Given the description of an element on the screen output the (x, y) to click on. 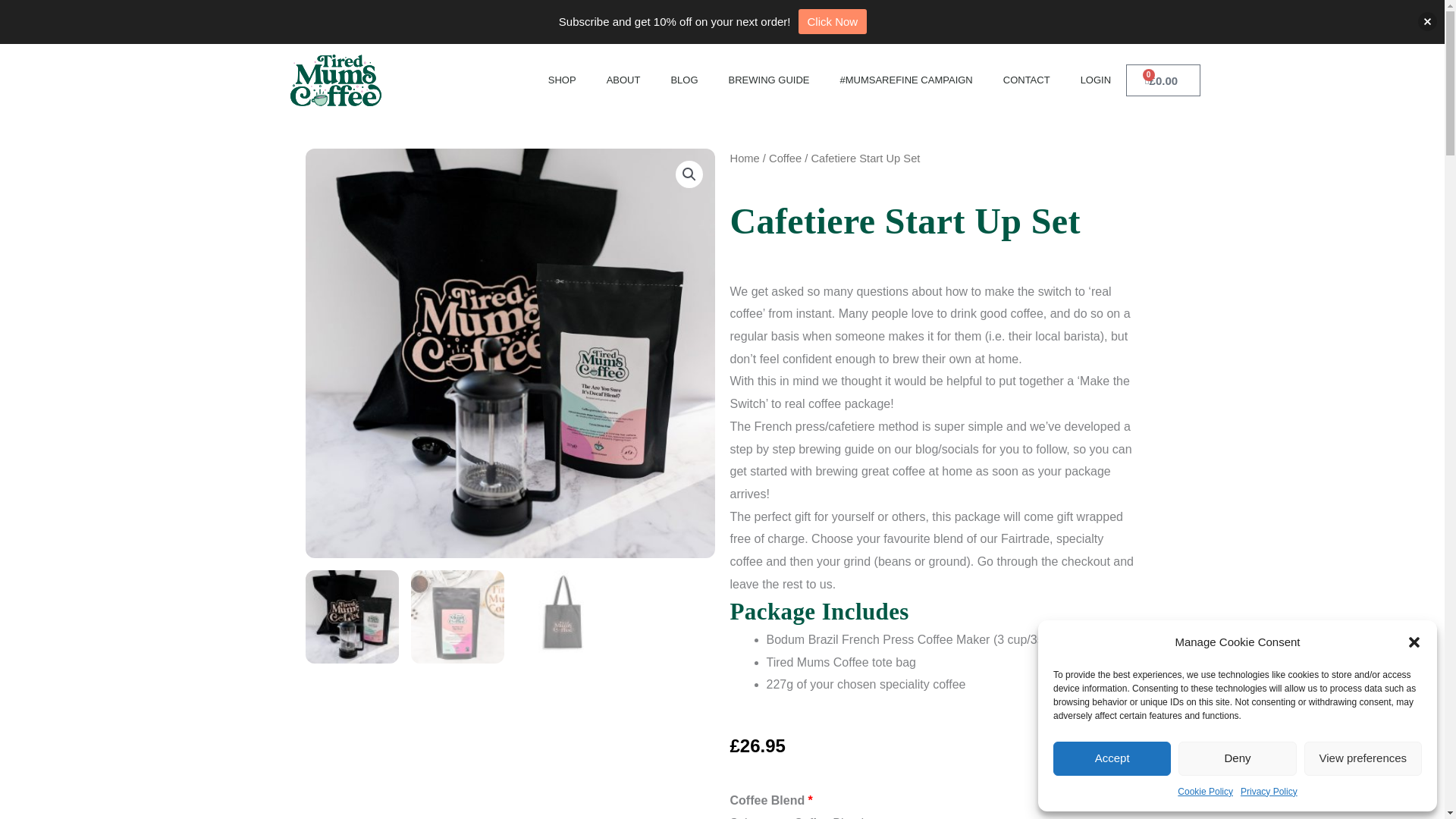
Privacy Policy (1268, 791)
BREWING GUIDE (769, 79)
Cookie Policy (1205, 791)
Deny (1236, 758)
CONTACT (1026, 79)
Accept (1111, 758)
View preferences (1363, 758)
Coffee (785, 158)
Home (743, 158)
